Given the description of an element on the screen output the (x, y) to click on. 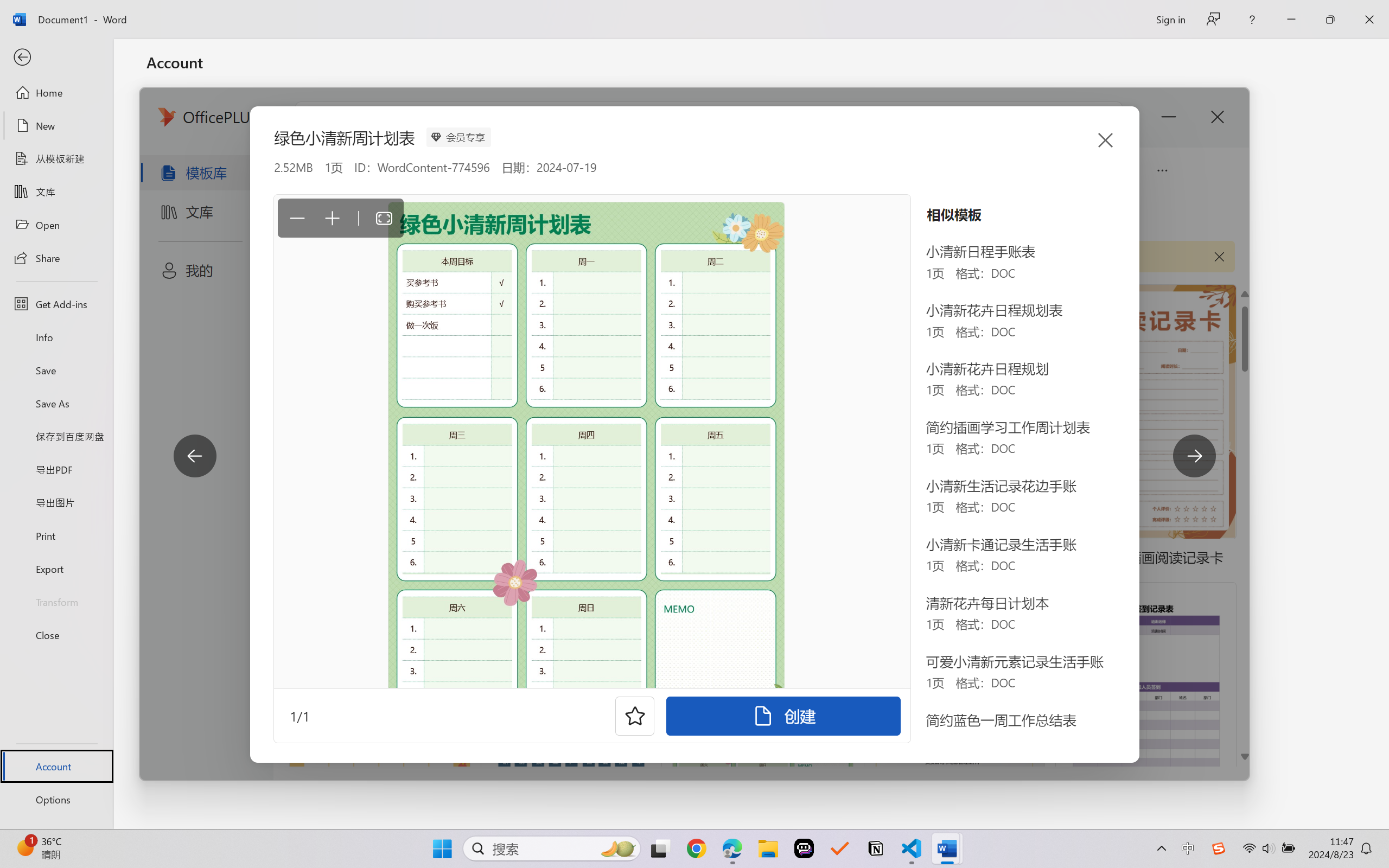
About Word (549, 408)
Account (56, 765)
Save As (56, 403)
Back (56, 57)
Switch License (553, 266)
Word (522, 241)
